Given the description of an element on the screen output the (x, y) to click on. 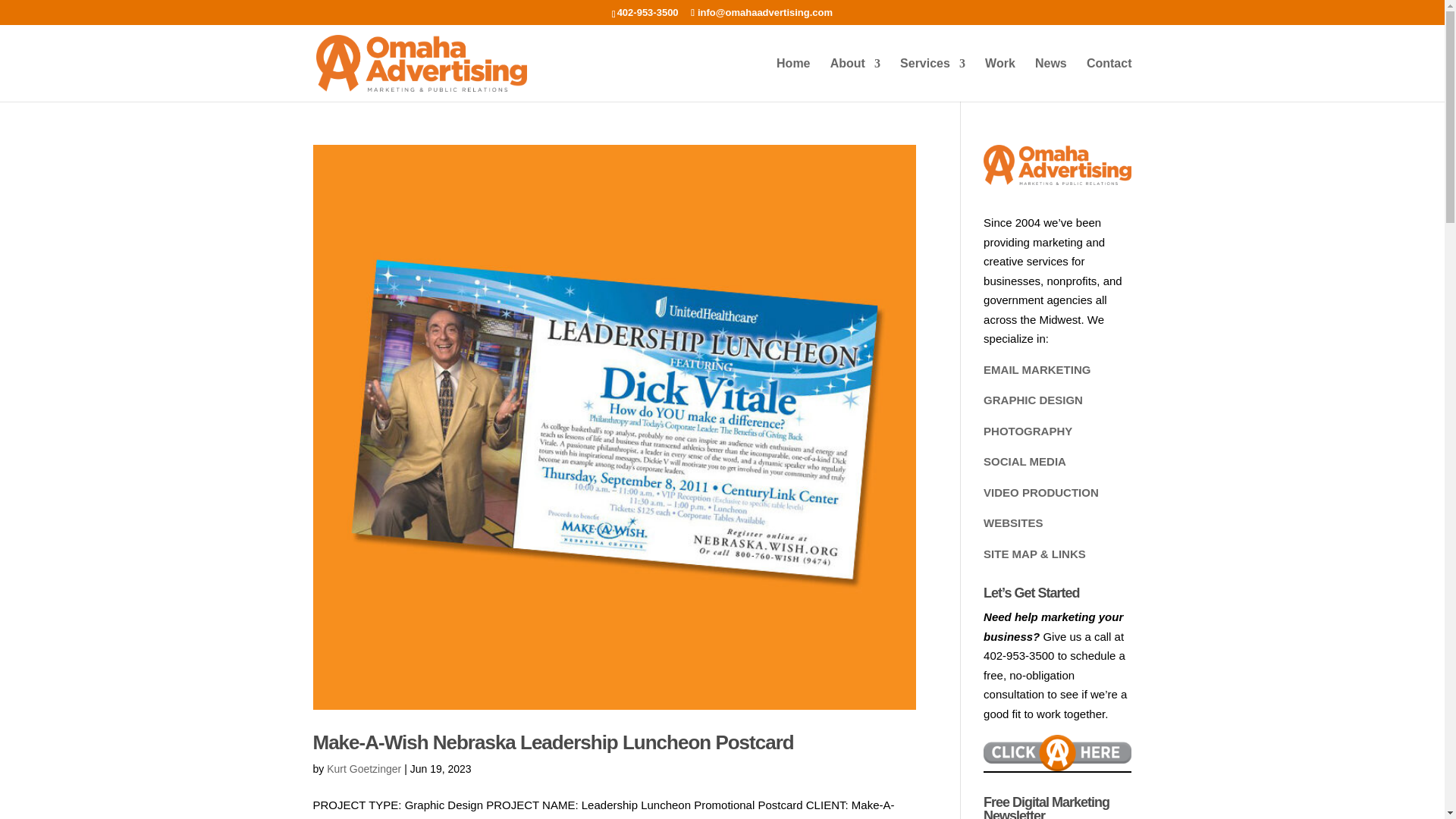
Services (932, 78)
Kurt Goetzinger (363, 768)
Contact (1109, 78)
Make-A-Wish Nebraska Leadership Luncheon Postcard (553, 742)
About (854, 78)
Posts by Kurt Goetzinger (363, 768)
